Given the description of an element on the screen output the (x, y) to click on. 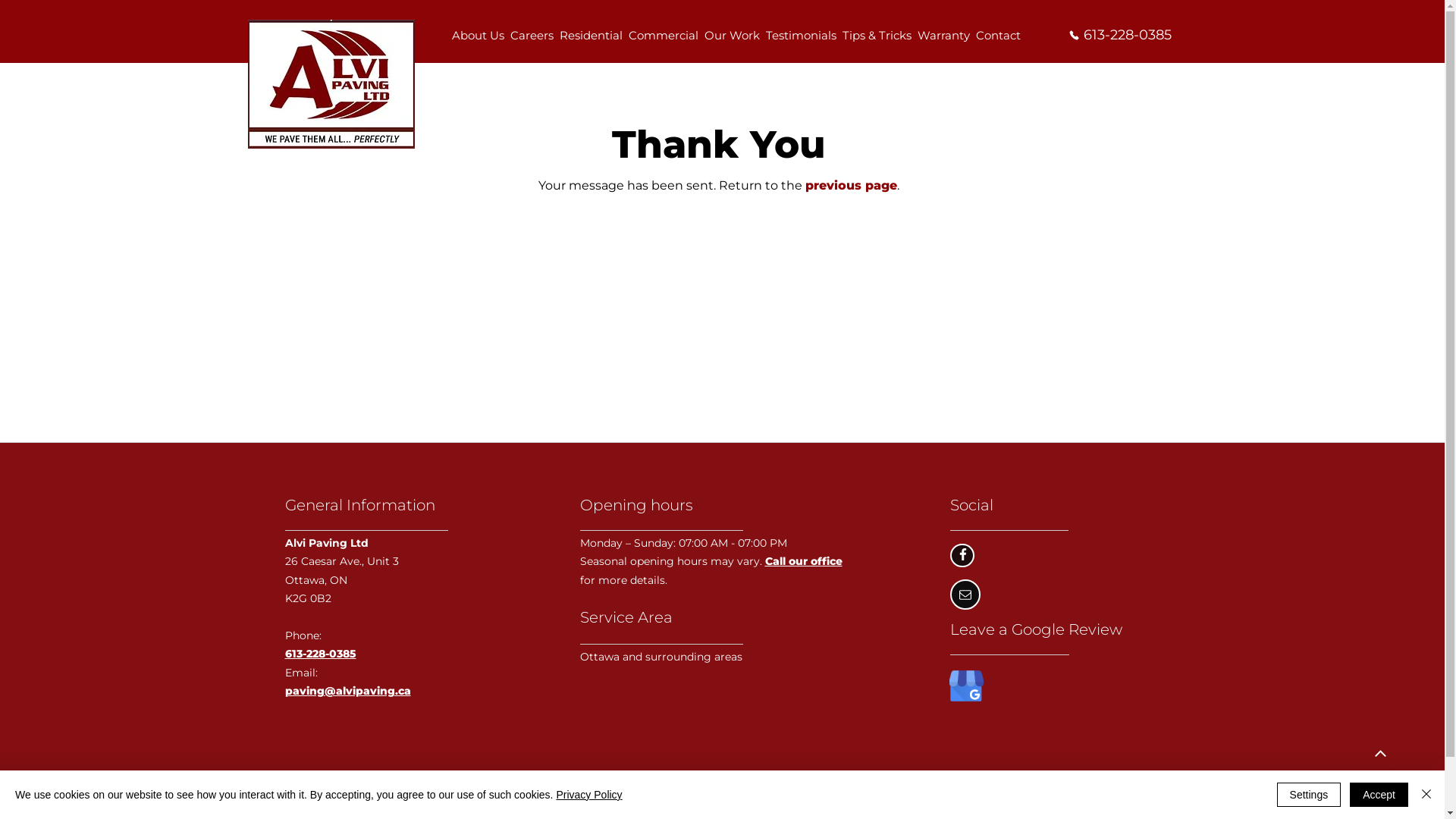
paving@alvipaving.ca Element type: text (348, 690)
Careers Element type: text (531, 35)
Warranty Element type: text (943, 35)
Testimonials Element type: text (800, 35)
Our Work Element type: text (731, 35)
Accept Element type: text (1378, 794)
Settings Element type: text (1309, 794)
Privacy Policy Element type: text (588, 794)
613-228-0385 Element type: text (320, 653)
Call our office Element type: text (802, 560)
previous page Element type: text (851, 185)
Residential Element type: text (590, 35)
613-228-0385 Element type: text (1119, 34)
About Us Element type: text (477, 35)
Contact Element type: text (997, 35)
Commercial Element type: text (663, 35)
Tips & Tricks Element type: text (876, 35)
